Given the description of an element on the screen output the (x, y) to click on. 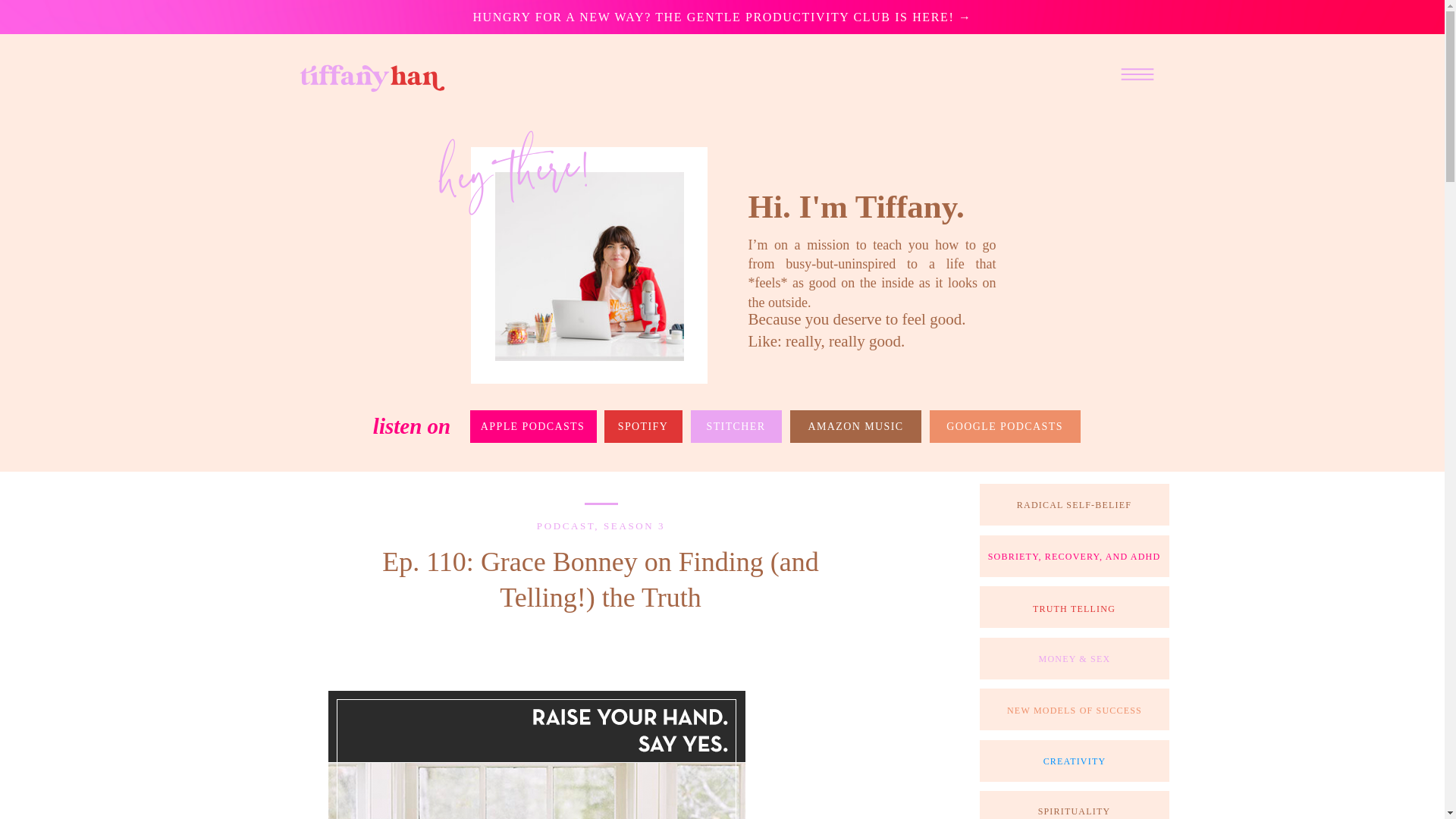
SPOTIFY (643, 426)
SPIRITUALITY (1074, 809)
RADICAL SELF-BELIEF (1073, 505)
SOBRIETY, RECOVERY, AND ADHD (1073, 556)
AMAZON MUSIC (856, 426)
APPLE PODCASTS (532, 426)
PODCAST (565, 525)
SEASON 3 (634, 525)
STITCHER (735, 426)
TRUTH TELLING (1073, 608)
GOOGLE PODCASTS (1005, 426)
NEW MODELS OF SUCCESS (1074, 709)
CREATIVITY (1074, 761)
